Given the description of an element on the screen output the (x, y) to click on. 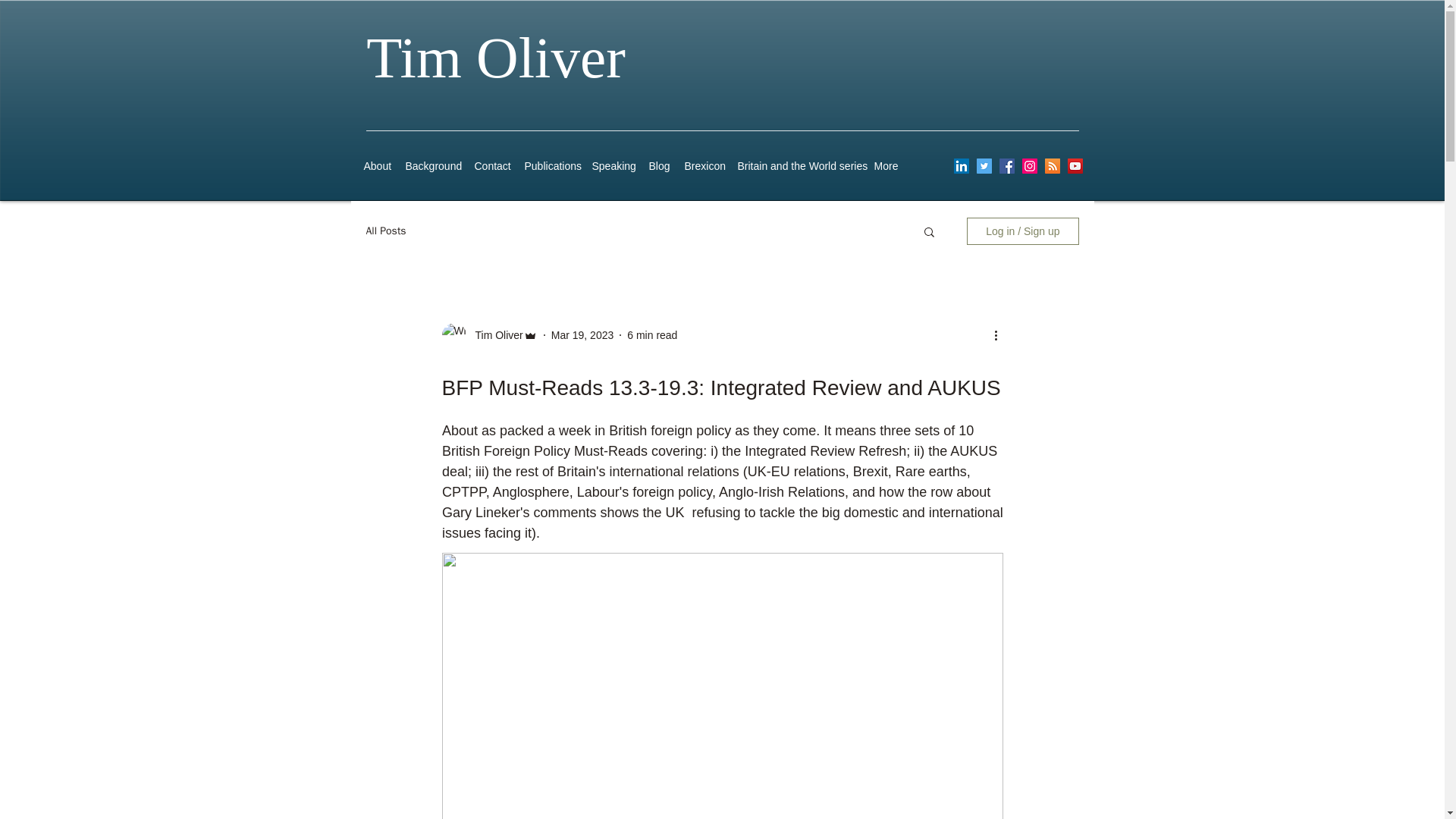
Publications (550, 165)
Mar 19, 2023 (582, 335)
Background (431, 165)
Tim Oliver (493, 335)
Brexicon (703, 165)
About (376, 165)
Blog (659, 165)
Speaking (611, 165)
6 min read (652, 335)
All Posts (385, 231)
Britain and the World series (797, 165)
Contact (491, 165)
